Given the description of an element on the screen output the (x, y) to click on. 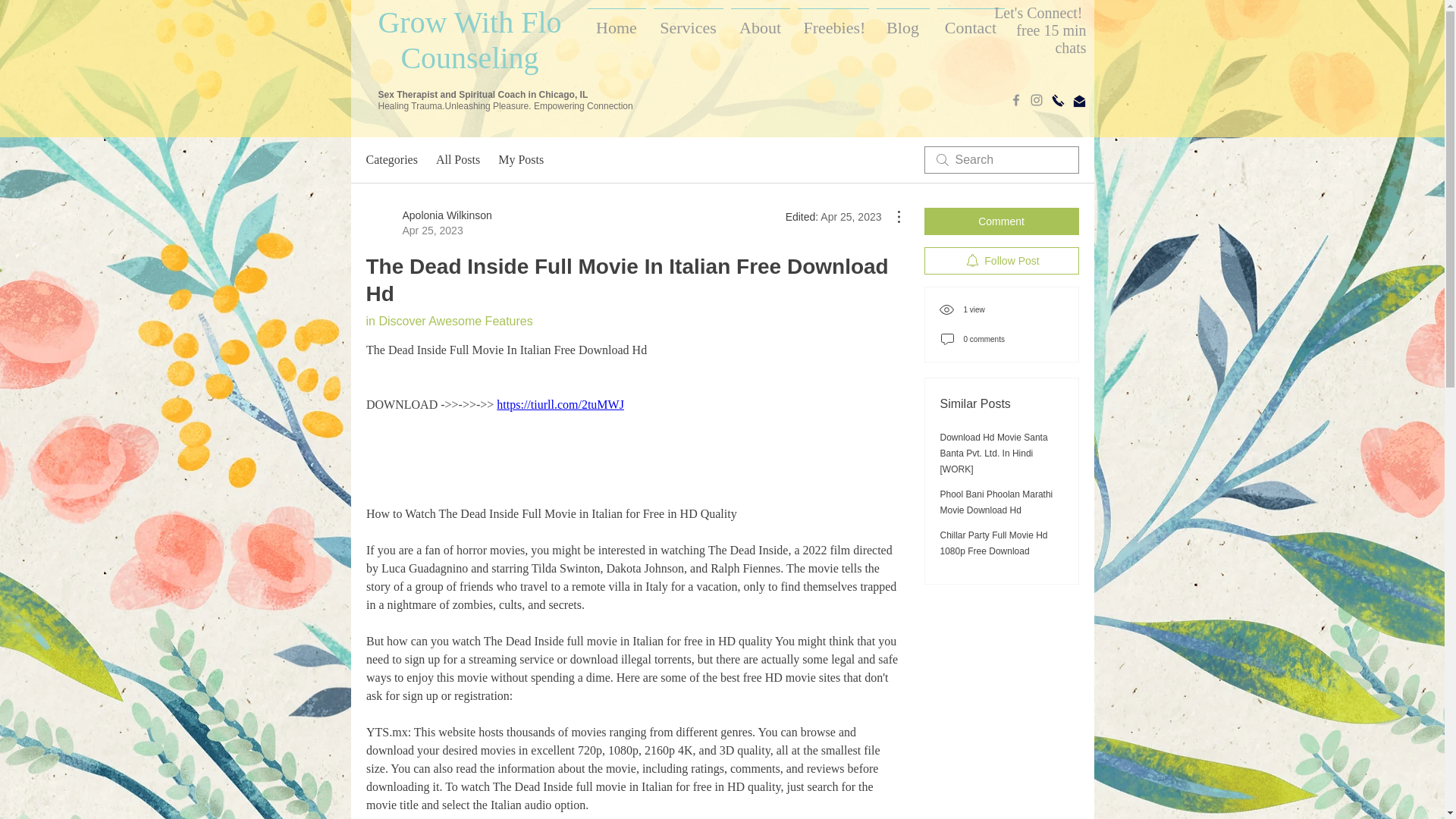
Contact (970, 21)
Grow With Flo Counseling (468, 39)
My Posts (520, 159)
All Posts (457, 159)
Services (687, 21)
Follow Post (1000, 260)
Categories (390, 159)
About (759, 21)
Chillar Party Full Movie Hd 1080p Free Download (994, 542)
Blog (902, 21)
Comment (1000, 221)
in Discover Awesome Features (448, 320)
Phool Bani Phoolan Marathi Movie Download Hd (428, 223)
Freebies! (996, 501)
